Given the description of an element on the screen output the (x, y) to click on. 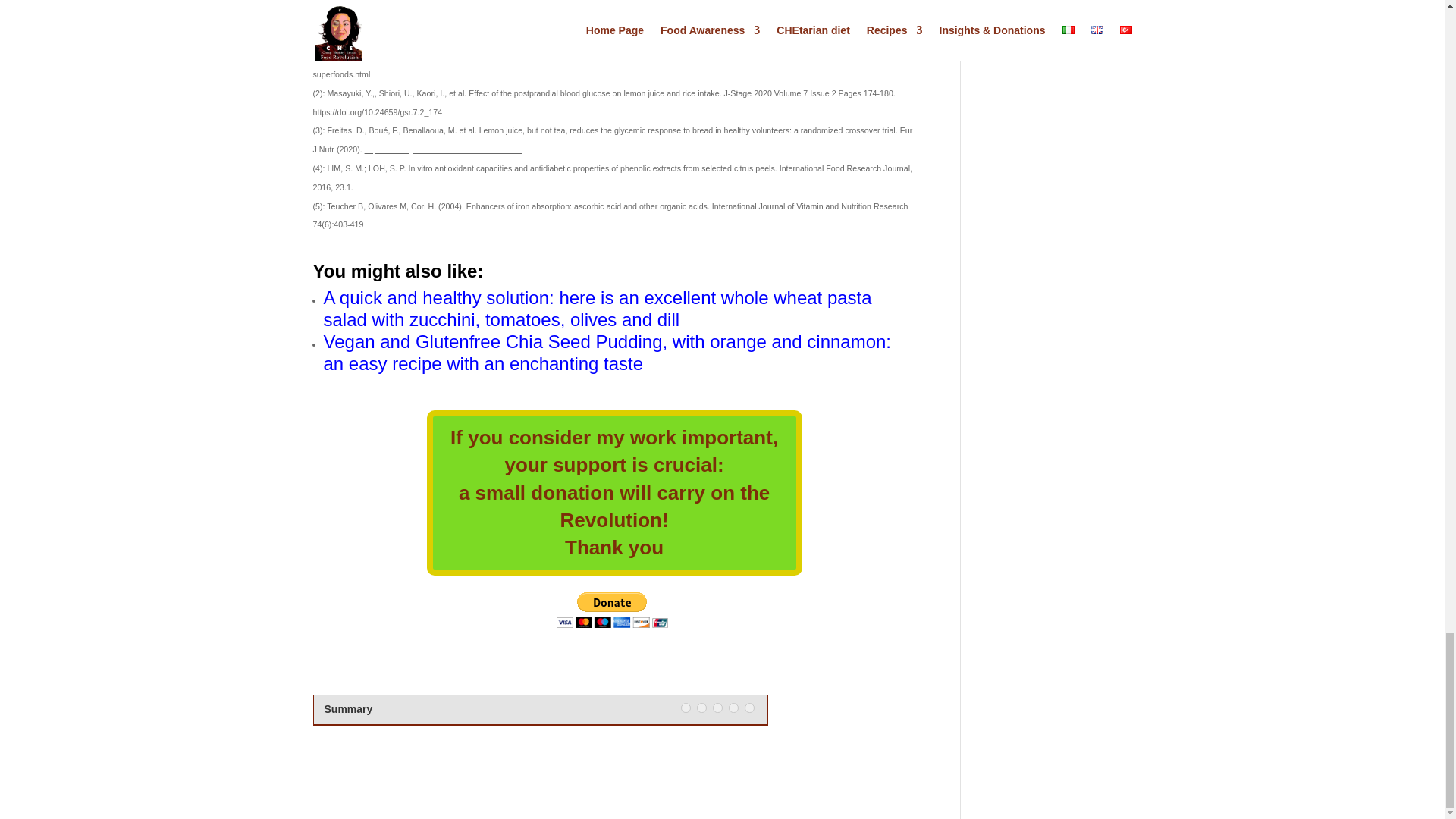
3 (717, 707)
5 (749, 707)
4 (733, 707)
1 (685, 707)
2 (700, 707)
PayPal - The safer, easier way to pay online! (612, 610)
